Given the description of an element on the screen output the (x, y) to click on. 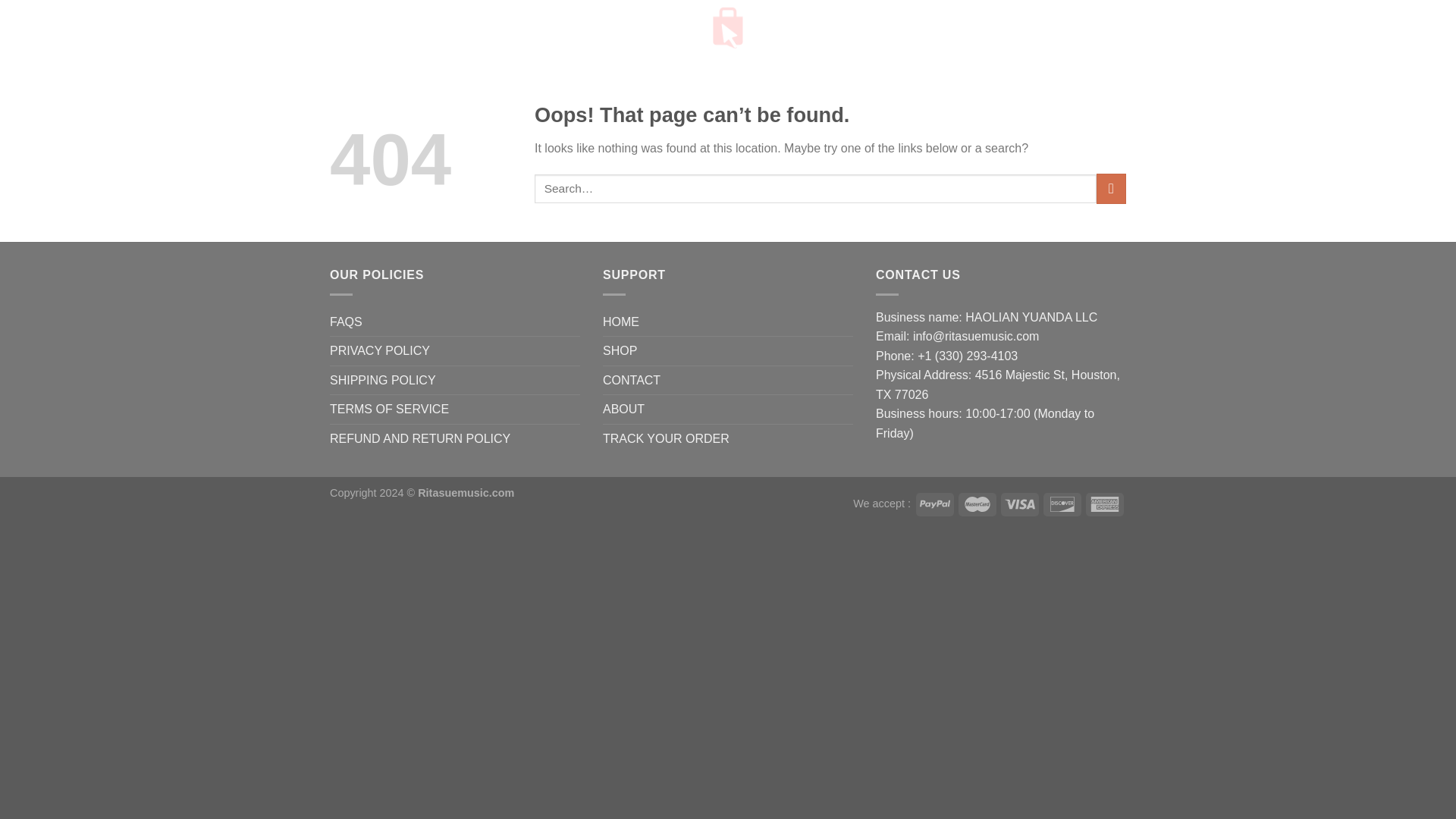
TRACK YOUR ORDER (665, 439)
Ritasuemusic - A reliable and high quality store (728, 28)
TERMS OF SERVICE (389, 409)
CONTACT (631, 380)
FAQS (346, 321)
SHOP (619, 350)
HOME (620, 321)
ABOUT (623, 409)
SHIPPING POLICY (382, 380)
Cart (1088, 28)
